Given the description of an element on the screen output the (x, y) to click on. 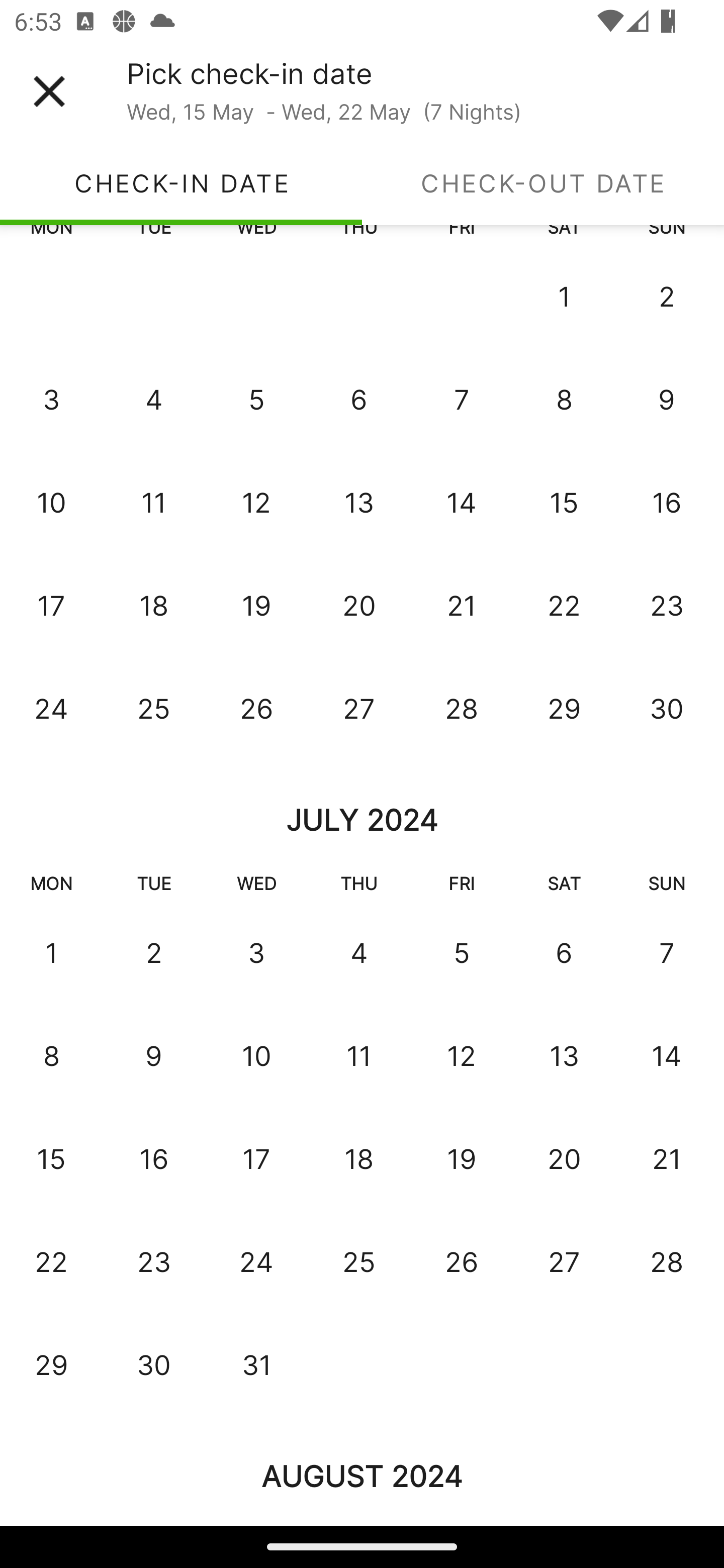
Check-out Date CHECK-OUT DATE (543, 183)
